Given the description of an element on the screen output the (x, y) to click on. 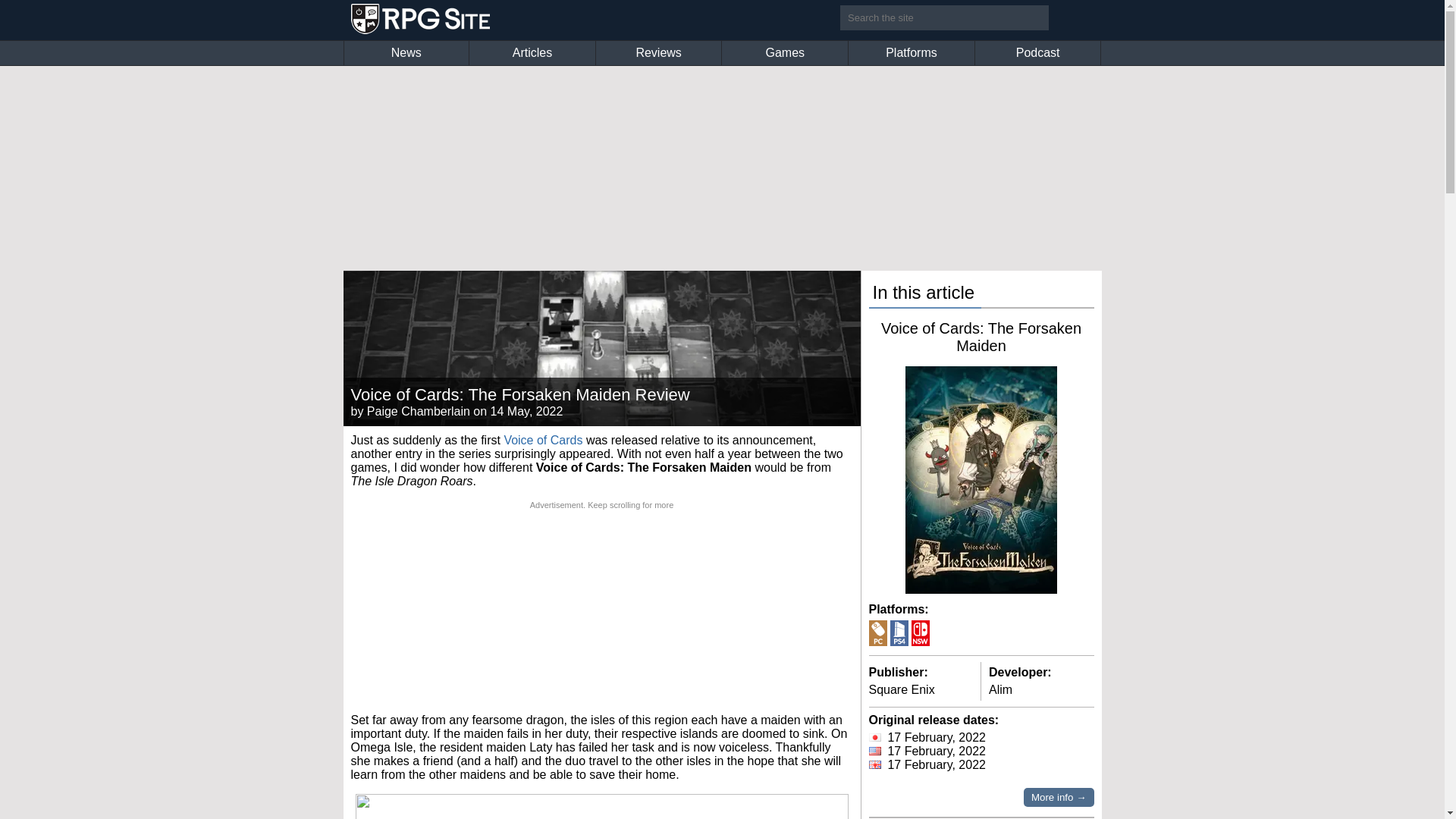
Voice of Cards: The Forsaken Maiden (980, 336)
Reviews (658, 52)
News (405, 52)
Games (784, 52)
Articles (531, 52)
Podcast (1037, 52)
Voice of Cards (542, 440)
Paige Chamberlain (418, 410)
Platforms (911, 52)
